Given the description of an element on the screen output the (x, y) to click on. 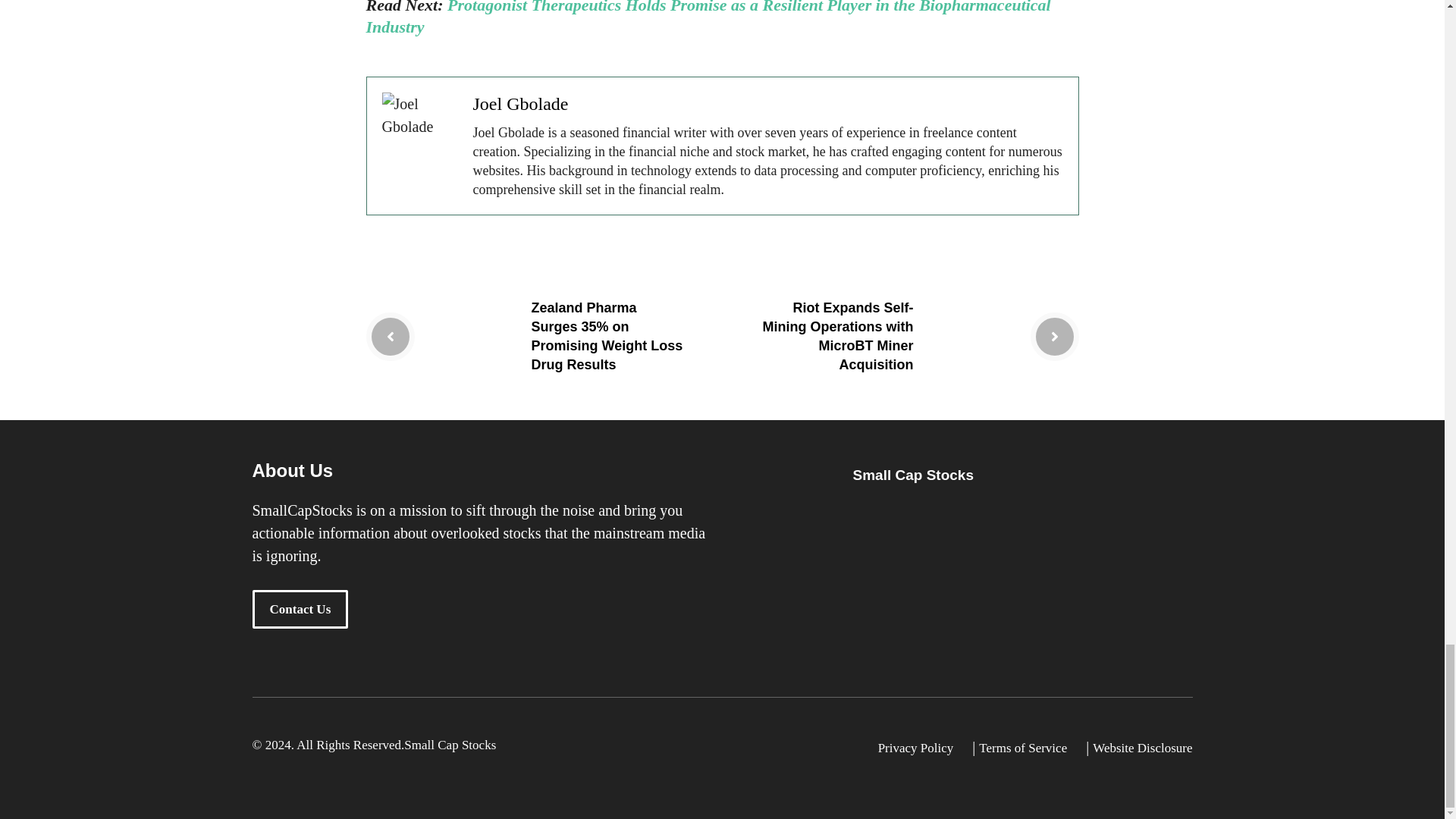
Joel Gbolade (521, 103)
